Given the description of an element on the screen output the (x, y) to click on. 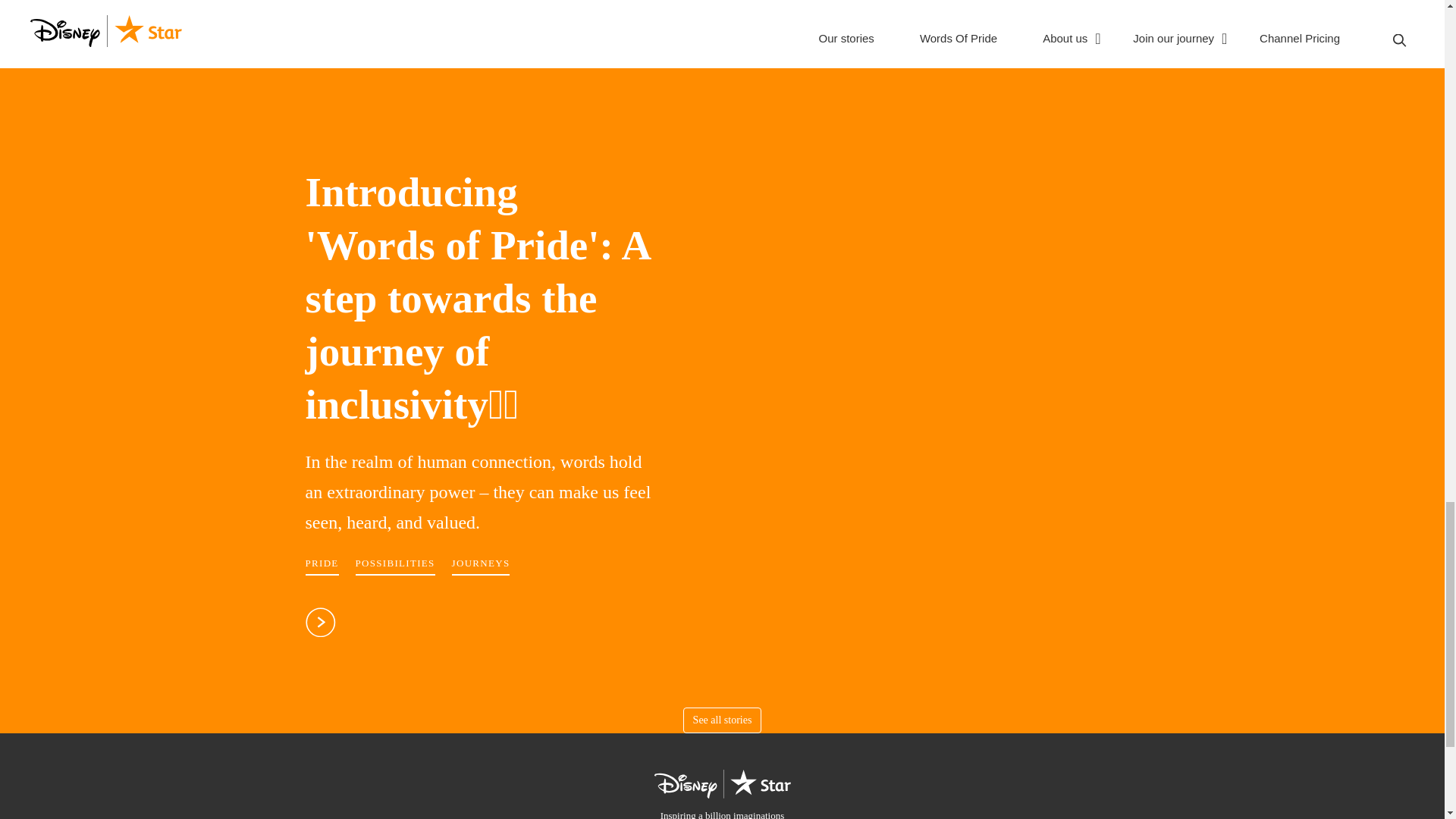
Possibilities (395, 566)
Home Page (721, 794)
Pride (320, 566)
Our stories (721, 720)
Journeys (481, 566)
Words of Pride (478, 290)
Words of Pride (319, 630)
